Given the description of an element on the screen output the (x, y) to click on. 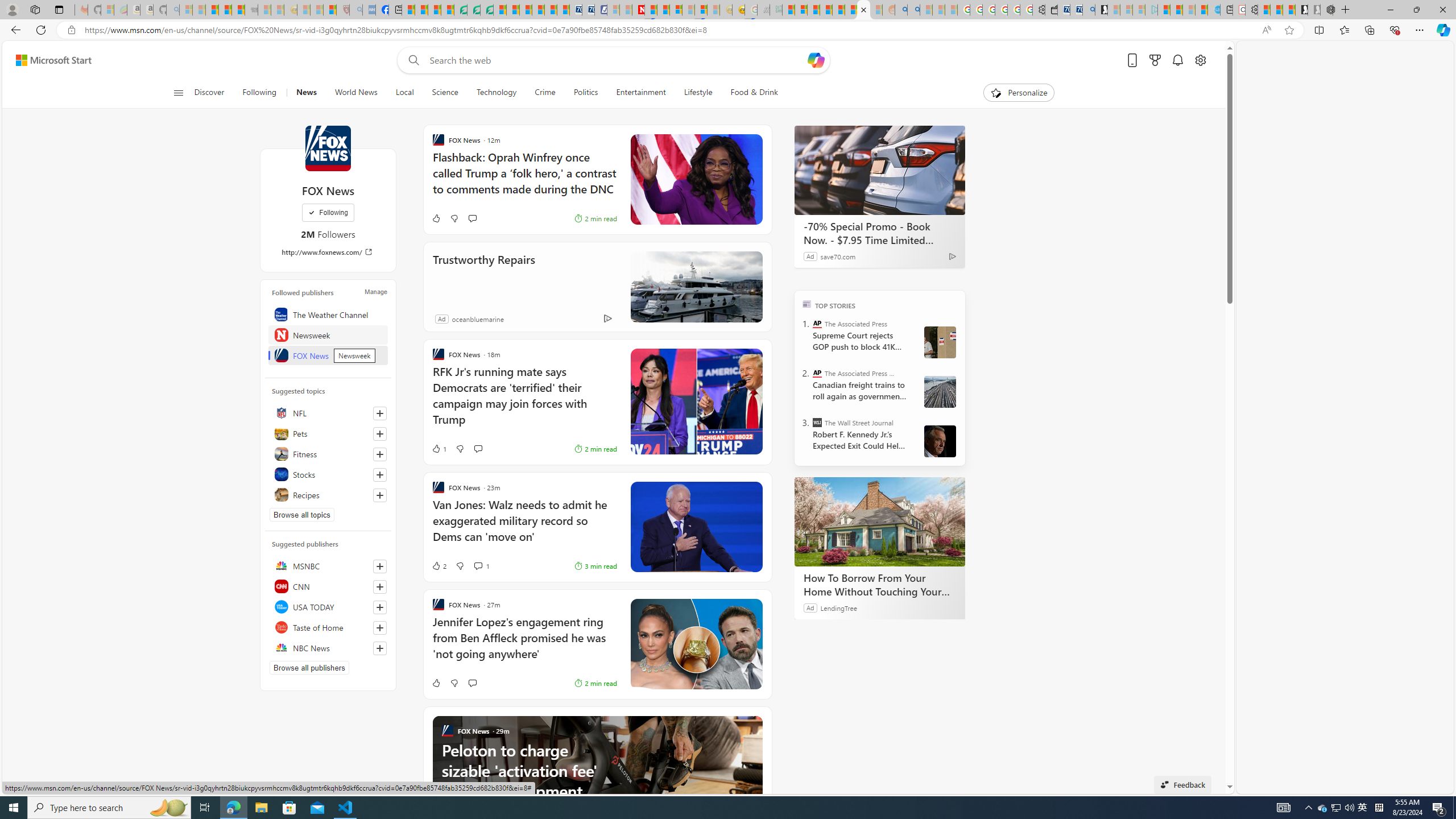
Local - MSN (329, 9)
USA TODAY (327, 606)
